Given the description of an element on the screen output the (x, y) to click on. 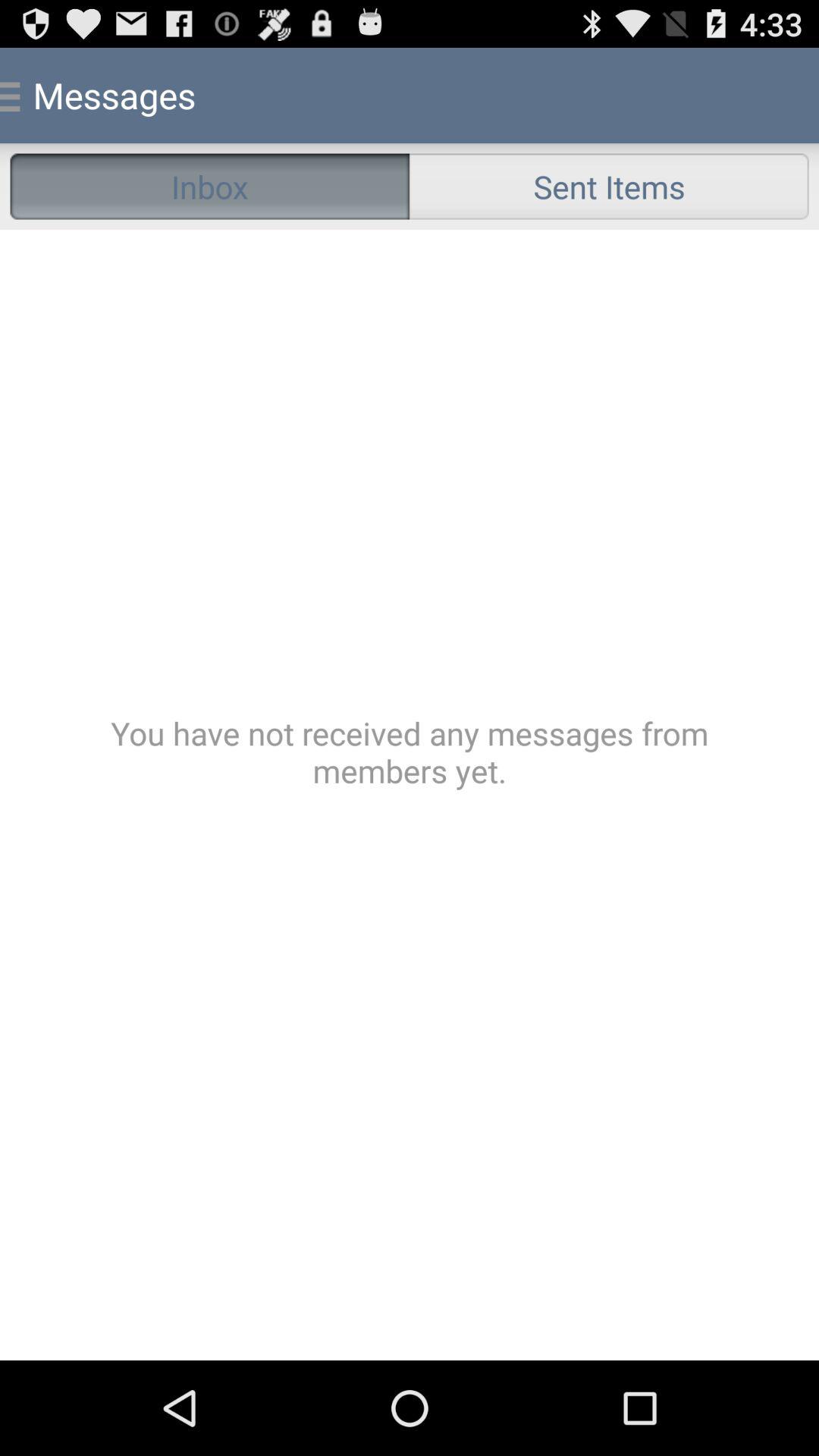
choose the icon to the left of the sent items (209, 186)
